Given the description of an element on the screen output the (x, y) to click on. 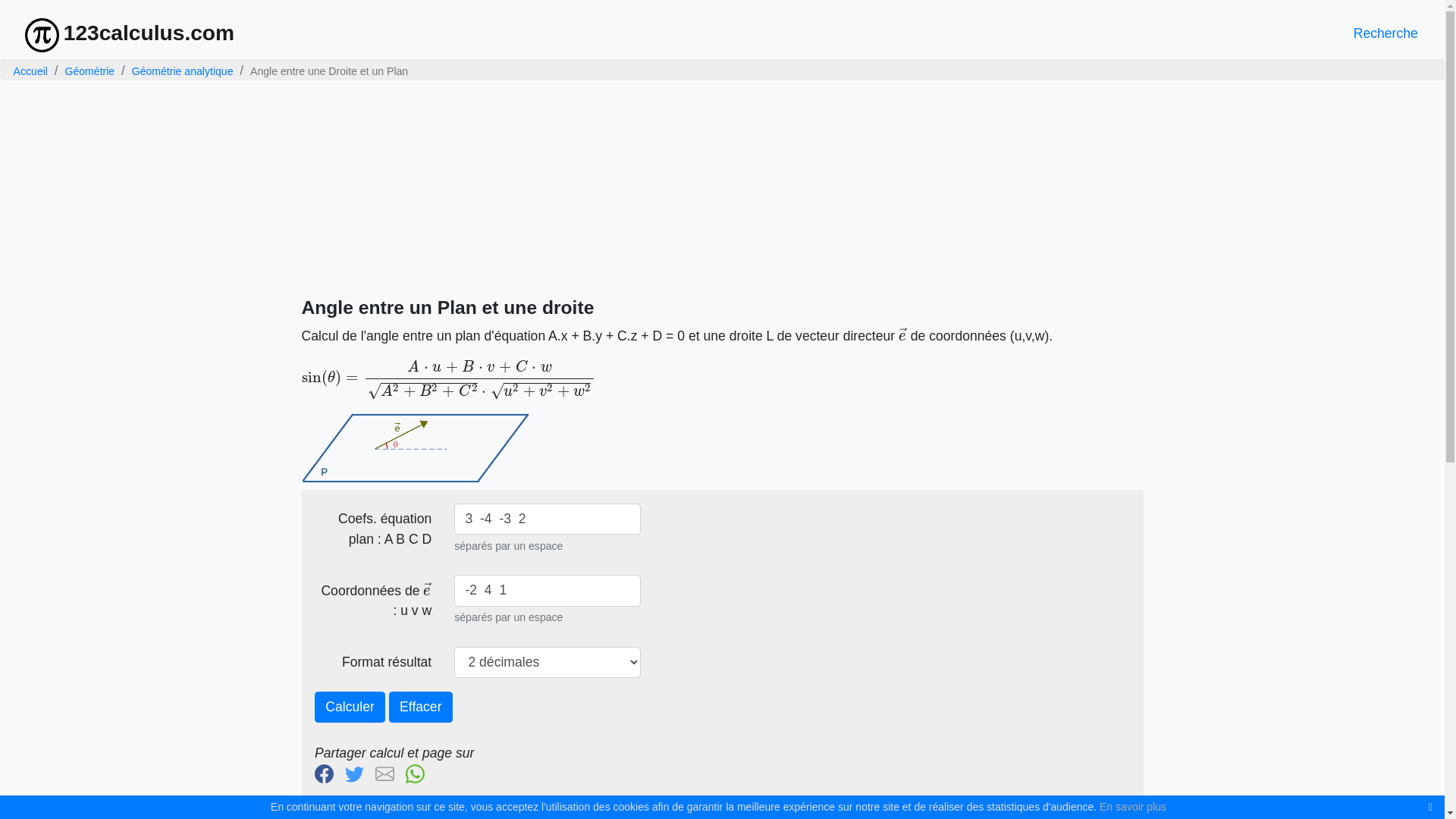
Partager via Email Element type: text (388, 772)
123calculus.com Element type: text (129, 33)
Advertisement Element type: hover (722, 190)
Partager sur Facebook Element type: text (327, 772)
Partager sur Whatsapp Element type: text (418, 772)
Accueil Element type: text (30, 70)
En savoir plus Element type: text (1132, 806)
Recherche Element type: text (1384, 33)
Calculer Element type: text (349, 707)
Partager sur Twitter Element type: text (358, 772)
Effacer Element type: text (420, 707)
